Given the description of an element on the screen output the (x, y) to click on. 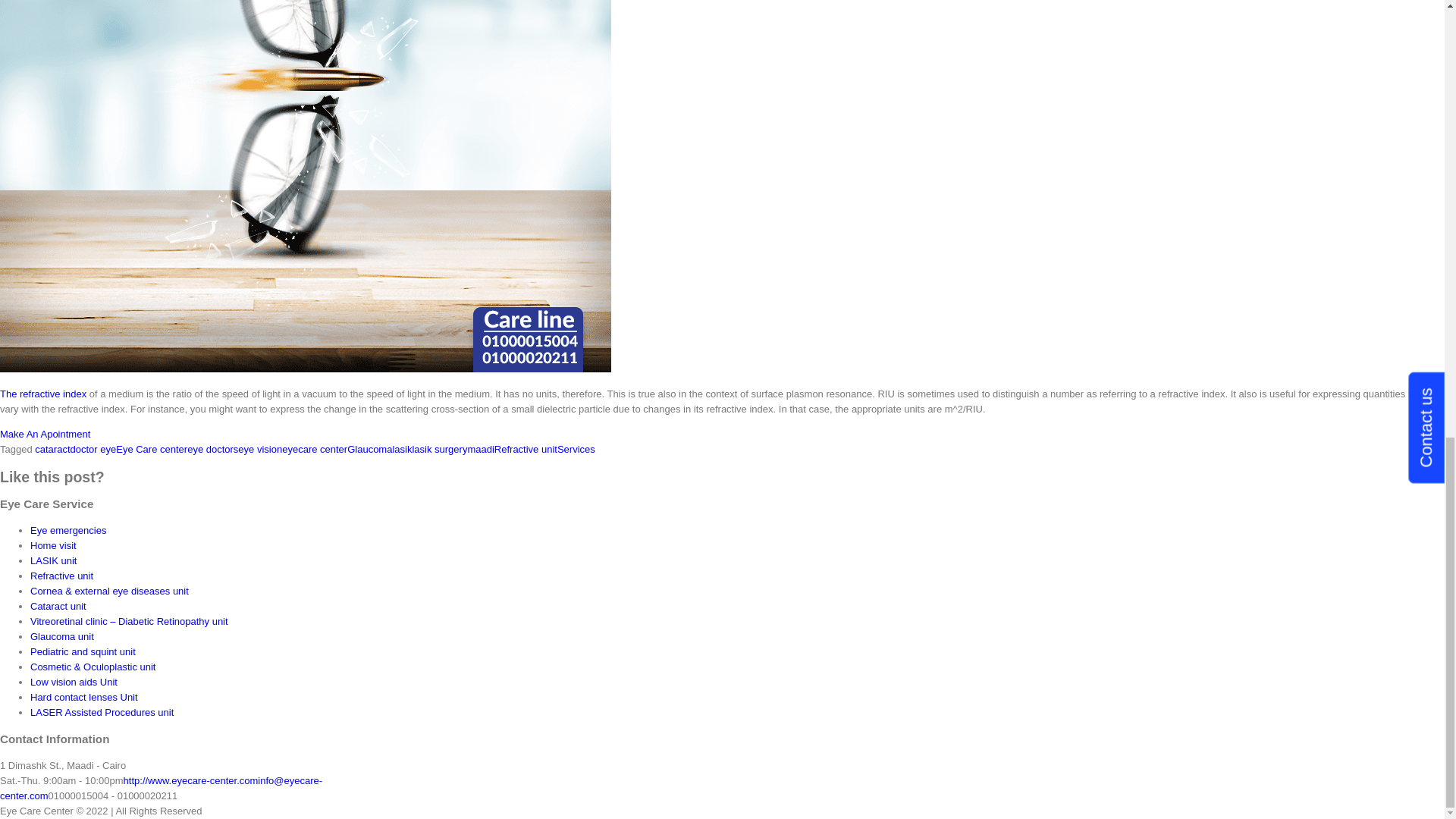
Make An Apointment (45, 433)
Eye Care center (151, 449)
doctor eye (92, 449)
The refractive index (42, 393)
cataract (51, 449)
eye doctors (212, 449)
Make An Apointment (45, 433)
